Given the description of an element on the screen output the (x, y) to click on. 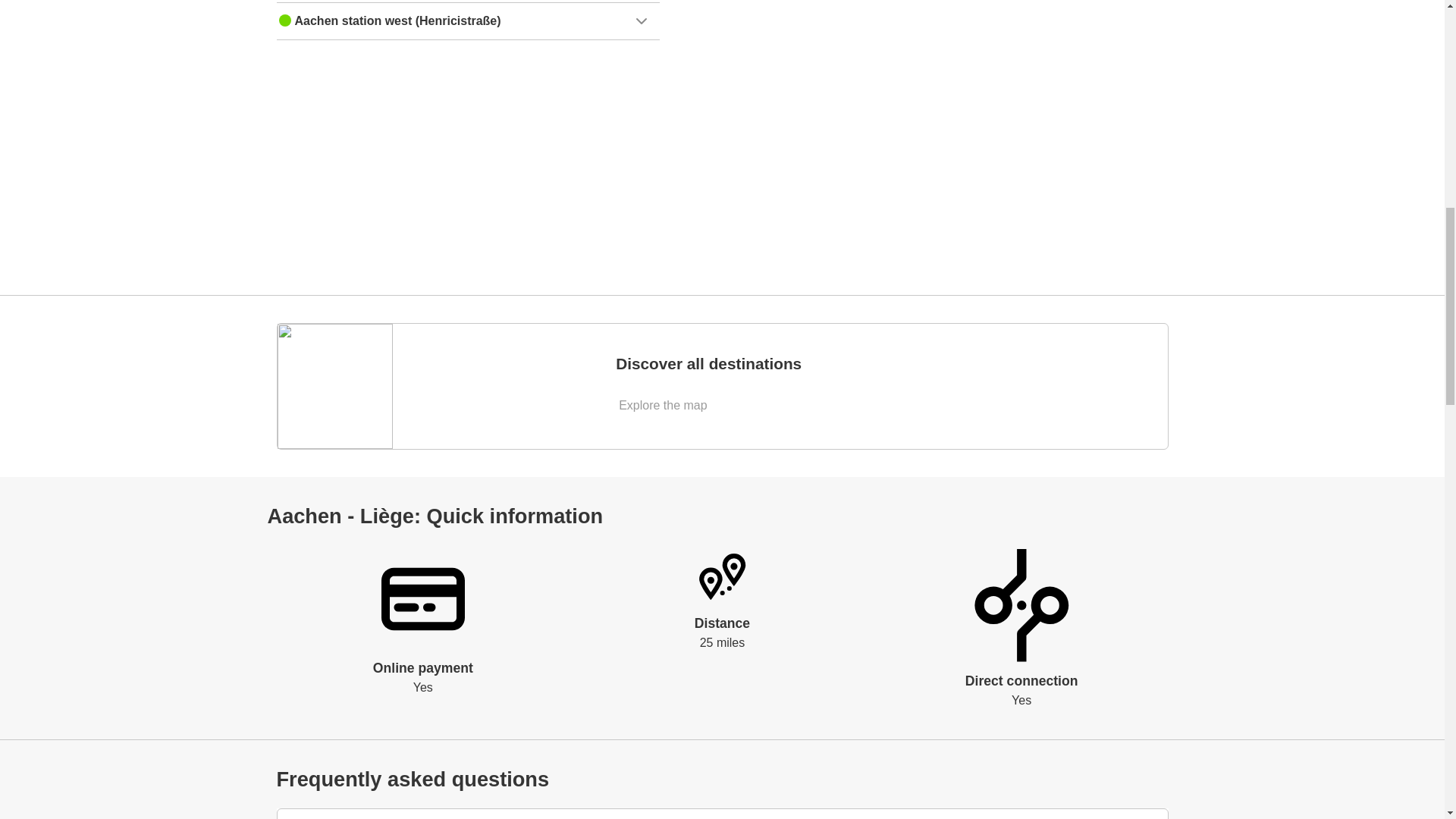
Explore the map (664, 405)
